Given the description of an element on the screen output the (x, y) to click on. 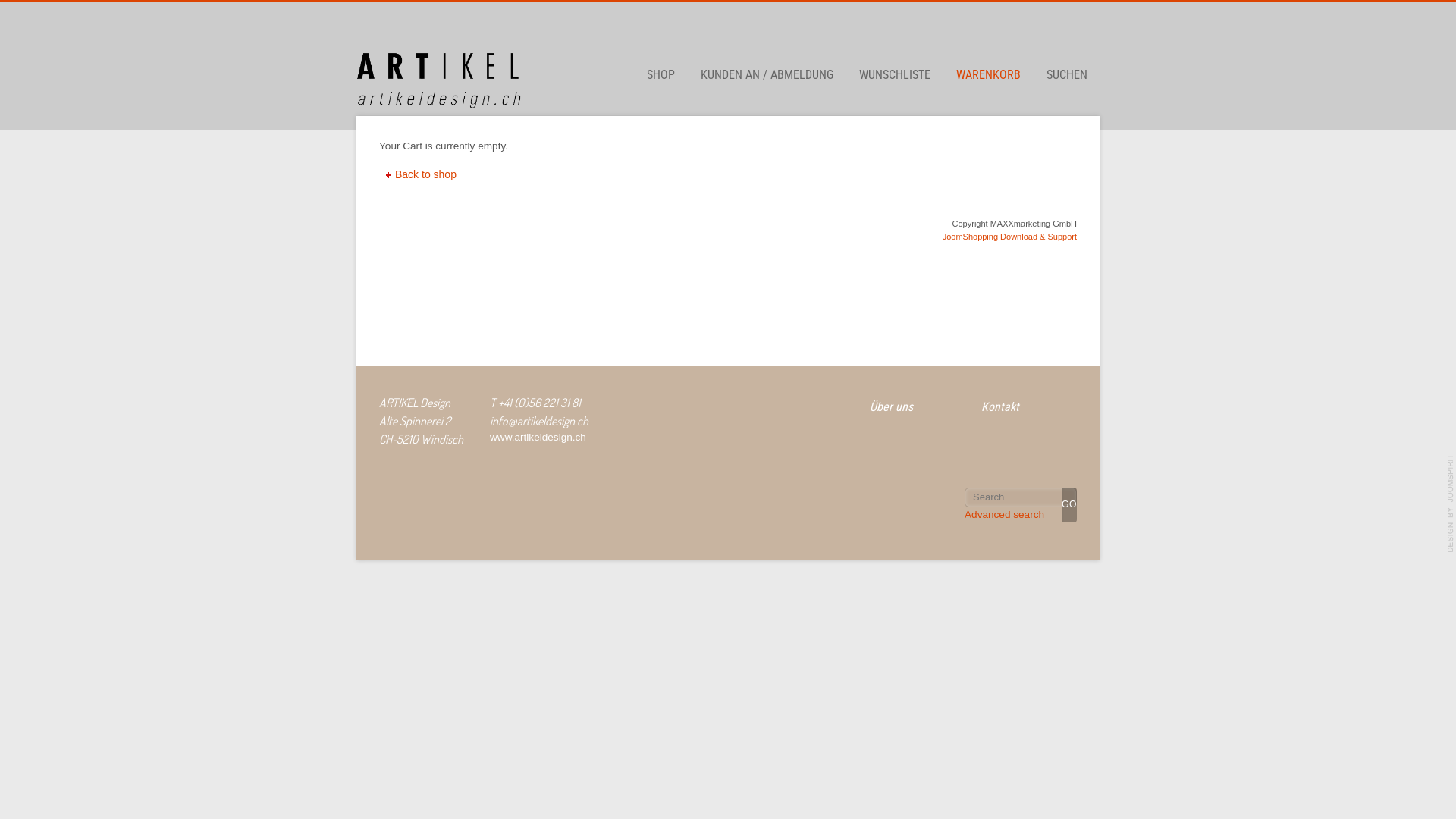
WUNSCHLISTE Element type: text (894, 74)
KUNDEN AN / ABMELDUNG Element type: text (766, 74)
Advanced search Element type: text (1004, 514)
JoomShopping Download & Support Element type: text (1009, 236)
www.artikeldesign.ch Element type: text (537, 436)
SHOP Element type: text (660, 74)
WARENKORB Element type: text (988, 74)
 Kontakt Element type: text (998, 406)
template-joomspirit.com Element type: text (1450, 503)
info@artikeldesign.ch Element type: text (538, 420)
Go Element type: text (1068, 504)
Back to shop Element type: text (422, 174)
SUCHEN Element type: text (1066, 74)
